Given the description of an element on the screen output the (x, y) to click on. 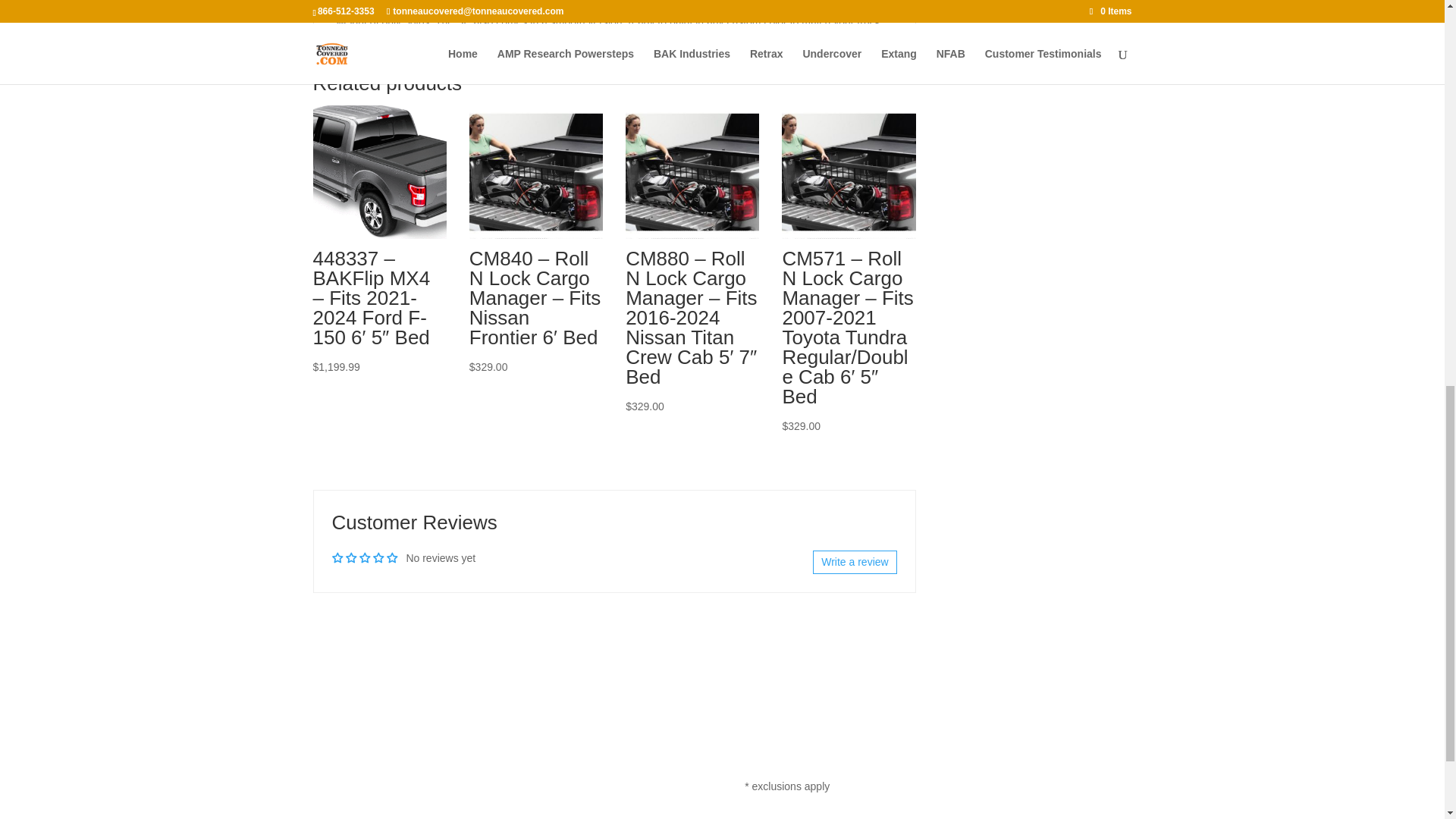
Write a review (854, 562)
